Given the description of an element on the screen output the (x, y) to click on. 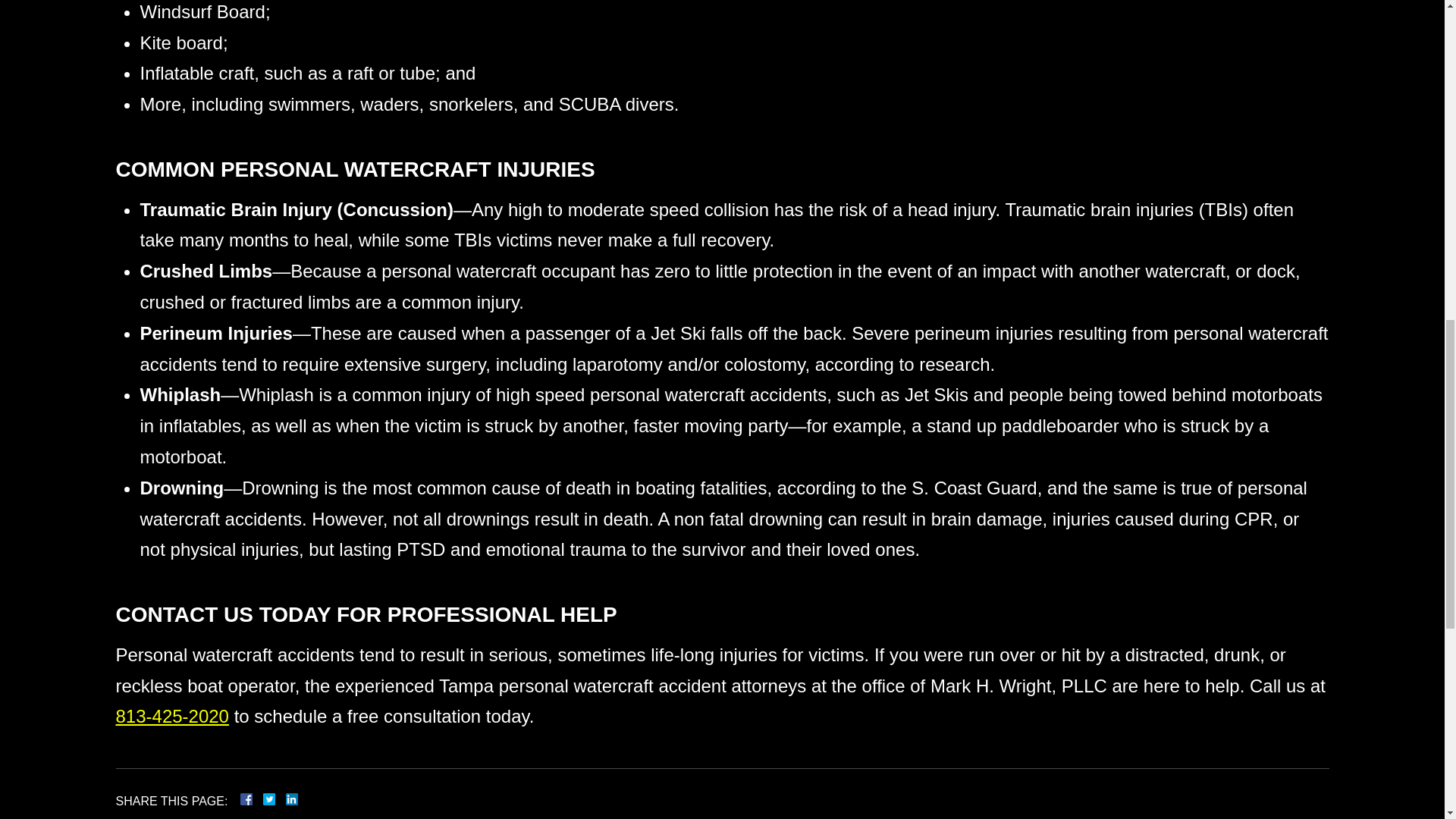
Facebook (264, 799)
Twitter (274, 799)
LinkedIn (286, 799)
